Given the description of an element on the screen output the (x, y) to click on. 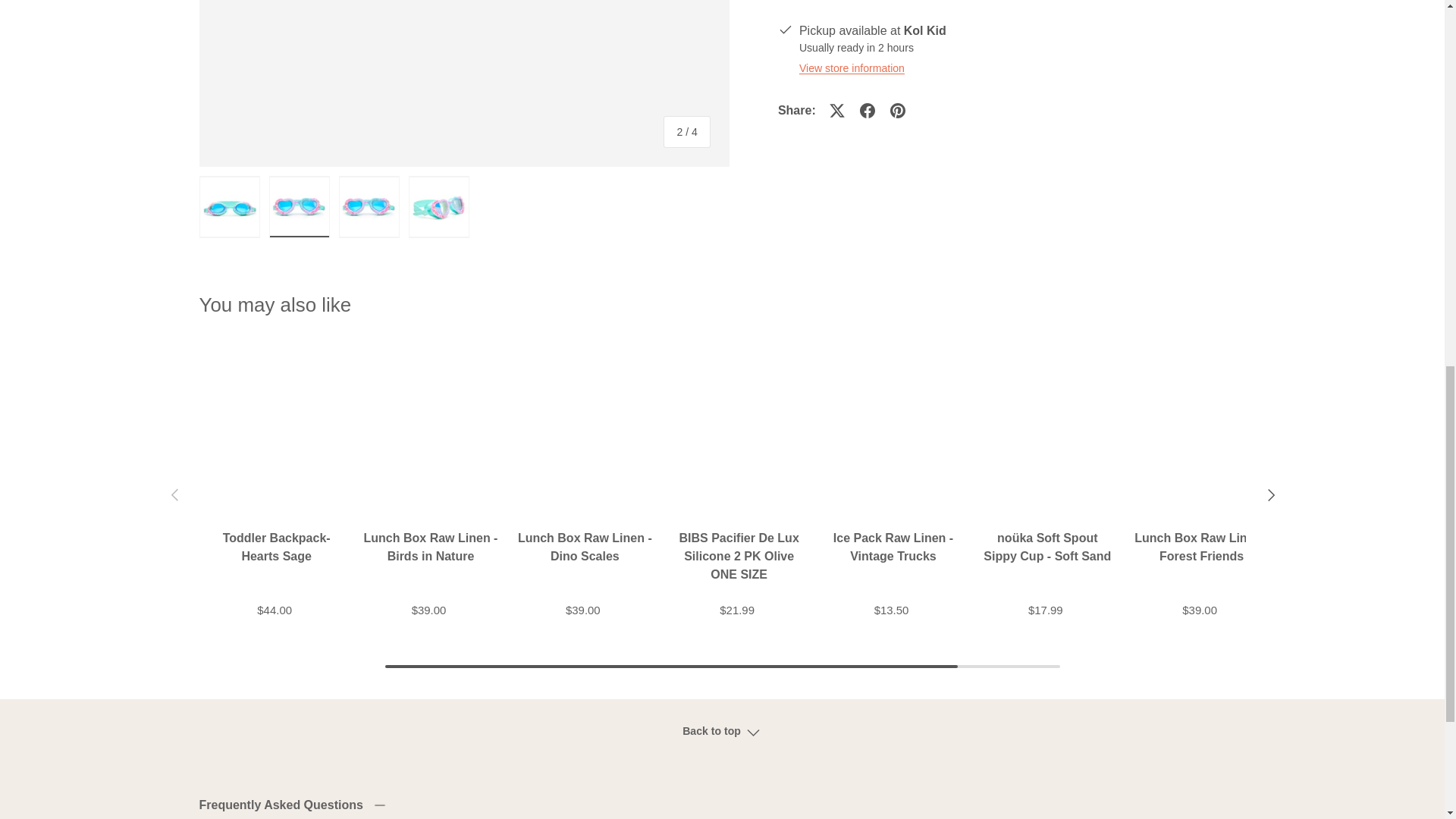
Share on Facebook (866, 110)
Pin on Pinterest (897, 110)
Tweet on X (836, 110)
